Given the description of an element on the screen output the (x, y) to click on. 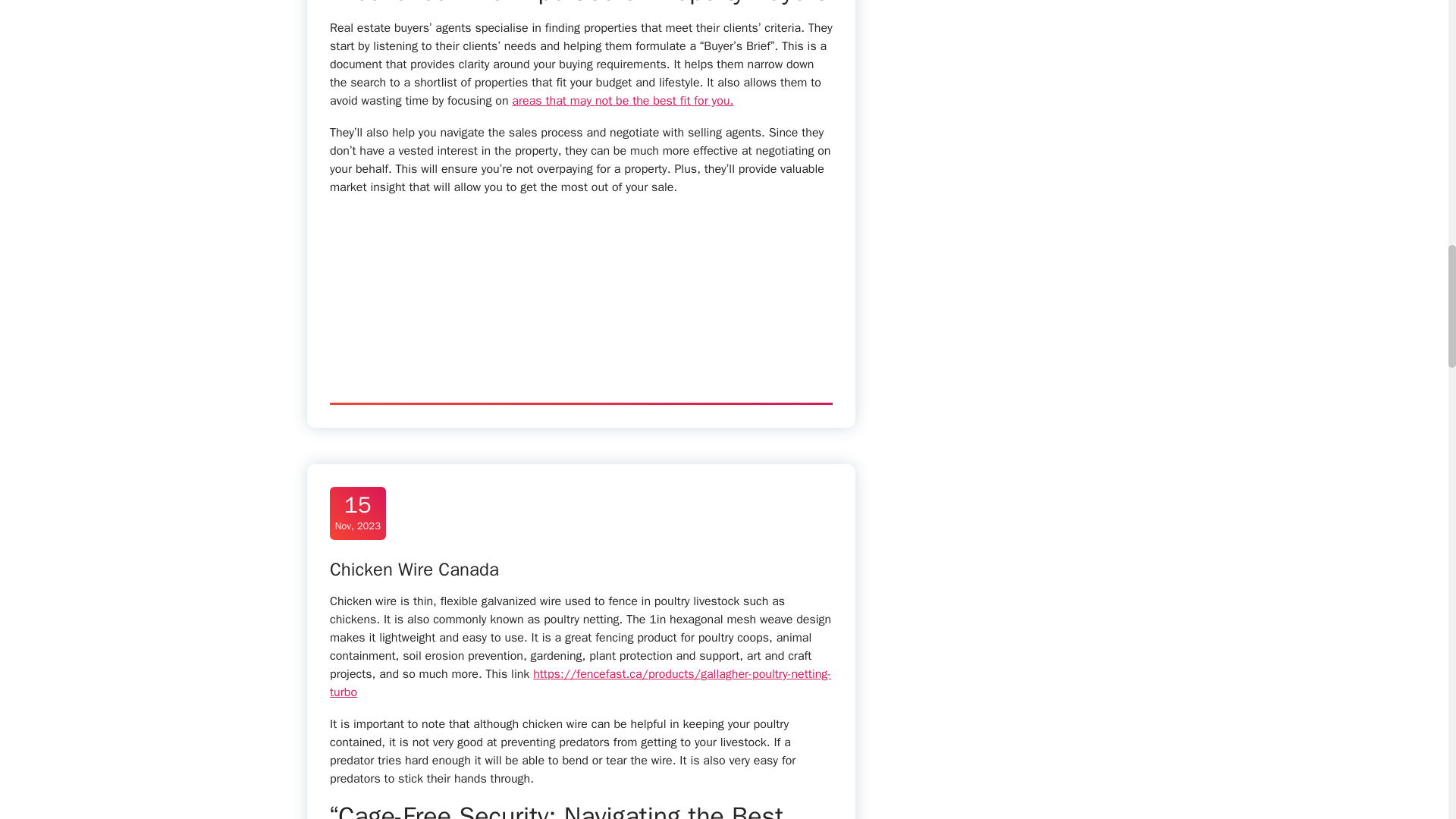
areas that may not be the best fit for you. (357, 512)
Chicken Wire Canada (622, 100)
